Given the description of an element on the screen output the (x, y) to click on. 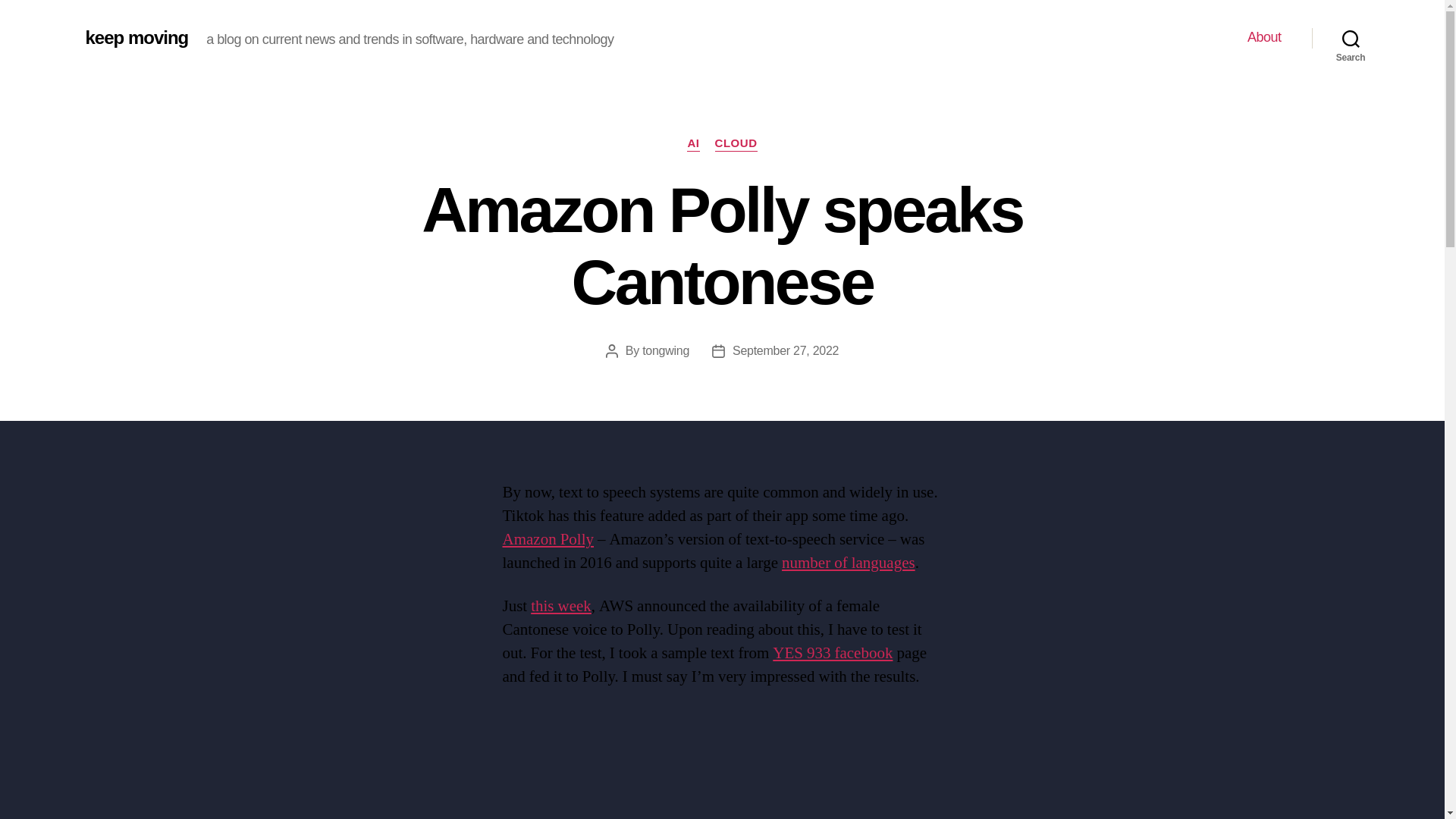
CLOUD (735, 143)
YES 933 facebook (832, 652)
September 27, 2022 (785, 350)
Amazon Polly (548, 539)
this week (561, 606)
keep moving (135, 37)
About (1264, 37)
tongwing (665, 350)
YouTube player (722, 769)
Search (1350, 37)
number of languages (848, 562)
